Given the description of an element on the screen output the (x, y) to click on. 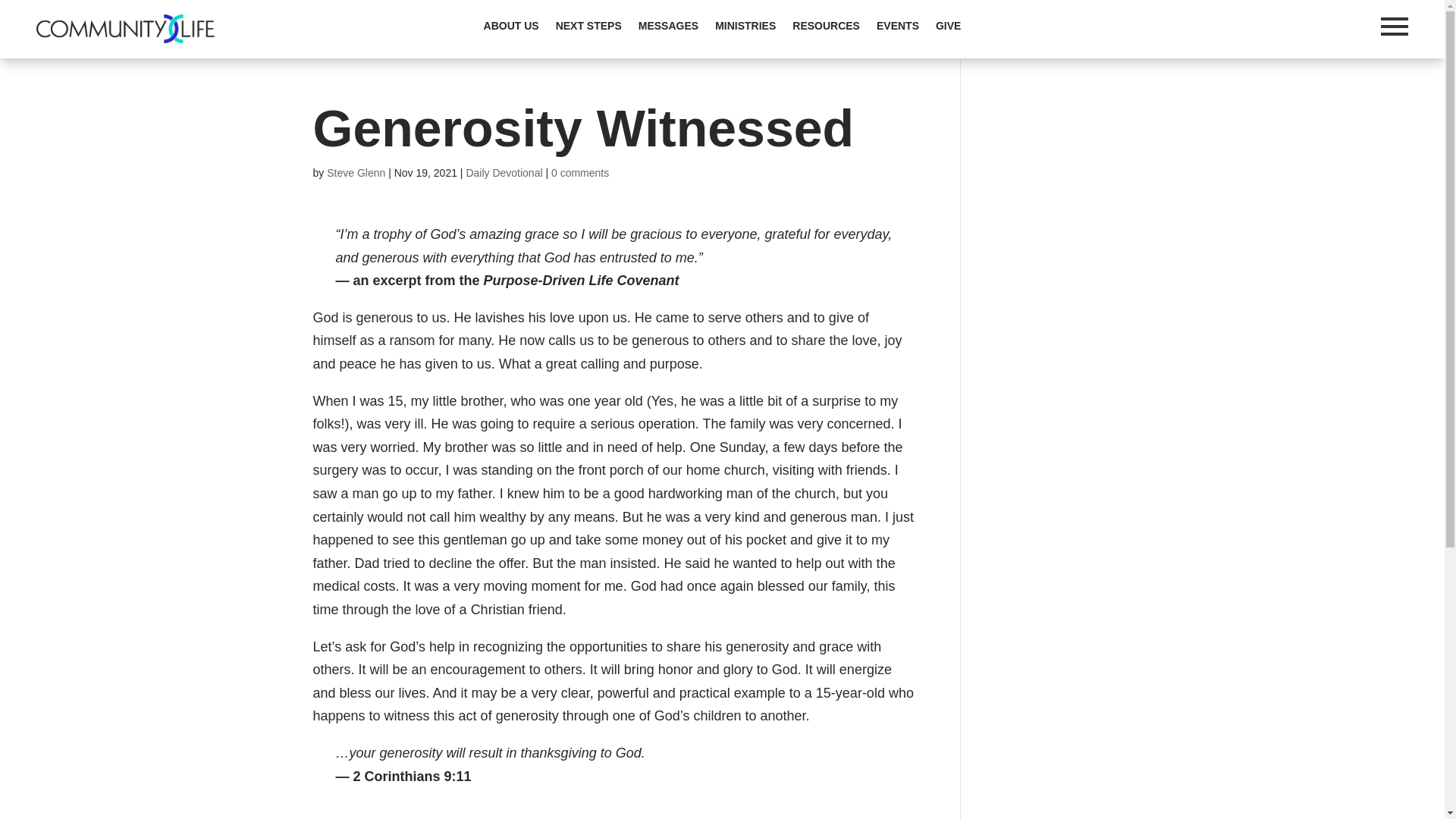
RESOURCES (826, 28)
Steve Glenn (355, 173)
MESSAGES (668, 28)
MINISTRIES (745, 28)
0 comments (579, 173)
Posts by Steve Glenn (355, 173)
EVENTS (897, 28)
ABOUT US (510, 28)
Daily Devotional (503, 173)
Community Life Logo (125, 28)
